Given the description of an element on the screen output the (x, y) to click on. 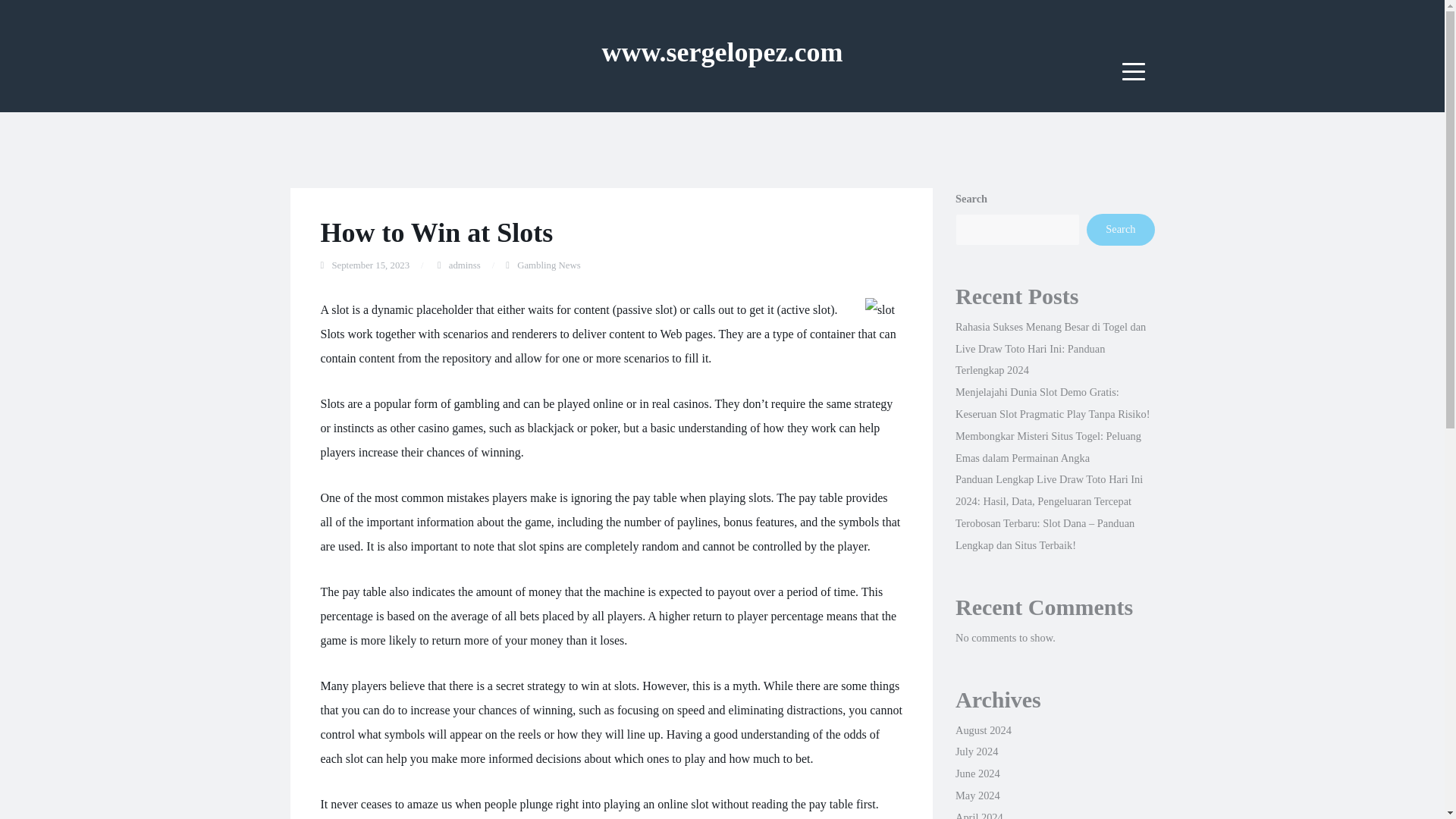
September 15, 2023 (370, 265)
May 2024 (977, 795)
July 2024 (976, 751)
August 2024 (983, 729)
Menu (1133, 71)
www.sergelopez.com (722, 51)
Search (1120, 229)
adminss (464, 265)
